Given the description of an element on the screen output the (x, y) to click on. 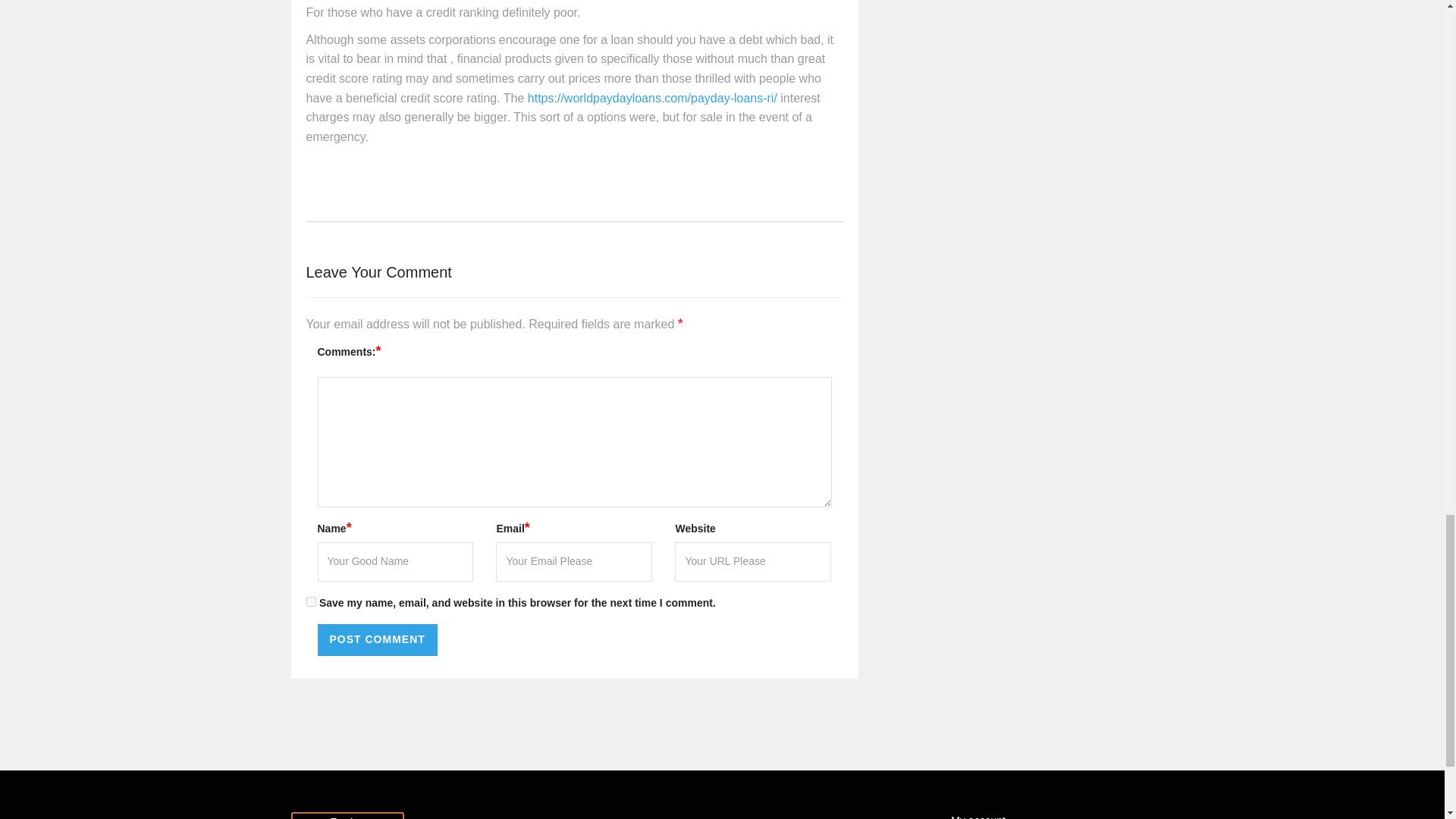
Post Comment (376, 640)
yes (310, 601)
My account (977, 816)
Post Comment (376, 640)
